Given the description of an element on the screen output the (x, y) to click on. 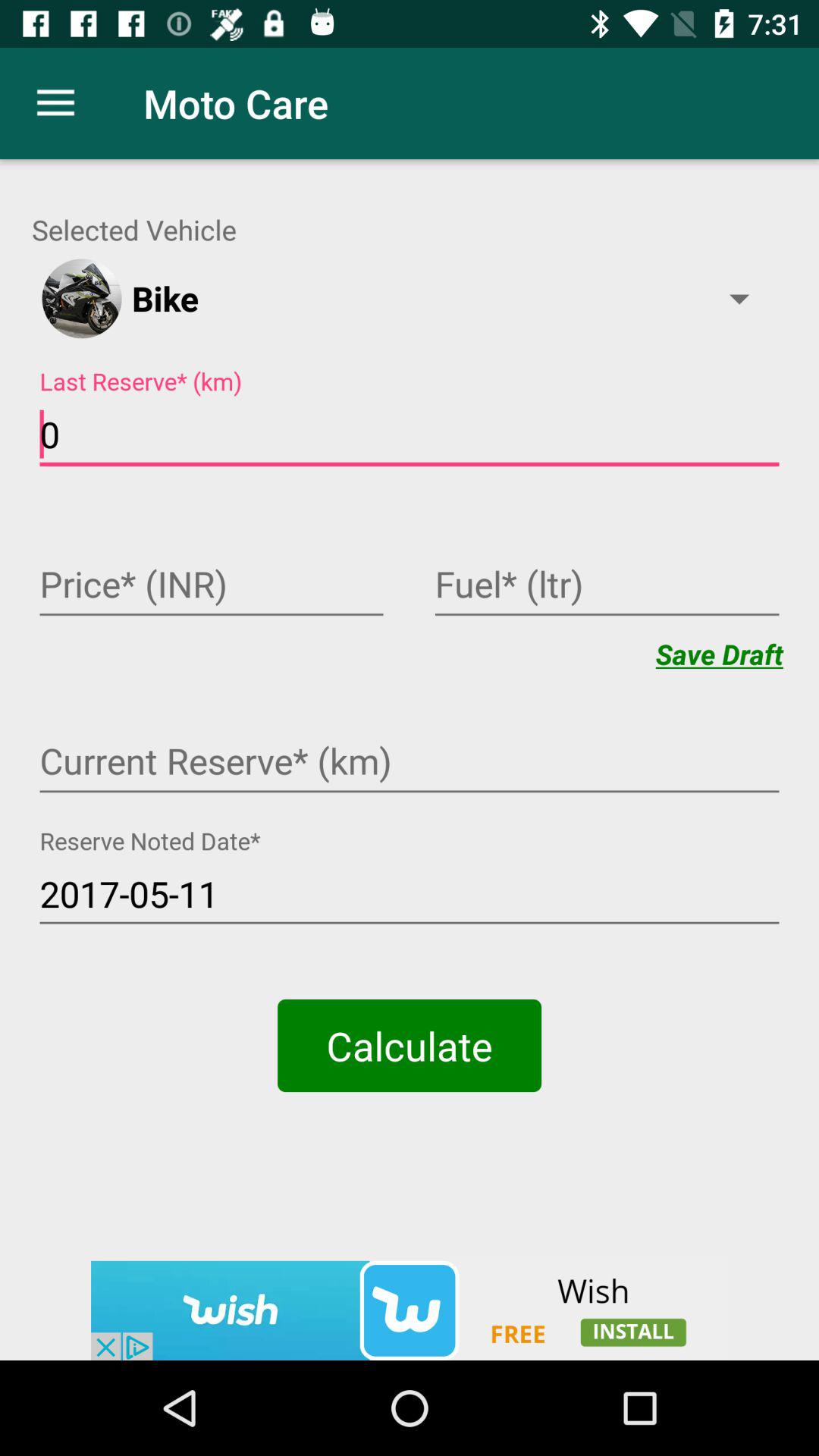
opens text box to input in displayed field (211, 586)
